Given the description of an element on the screen output the (x, y) to click on. 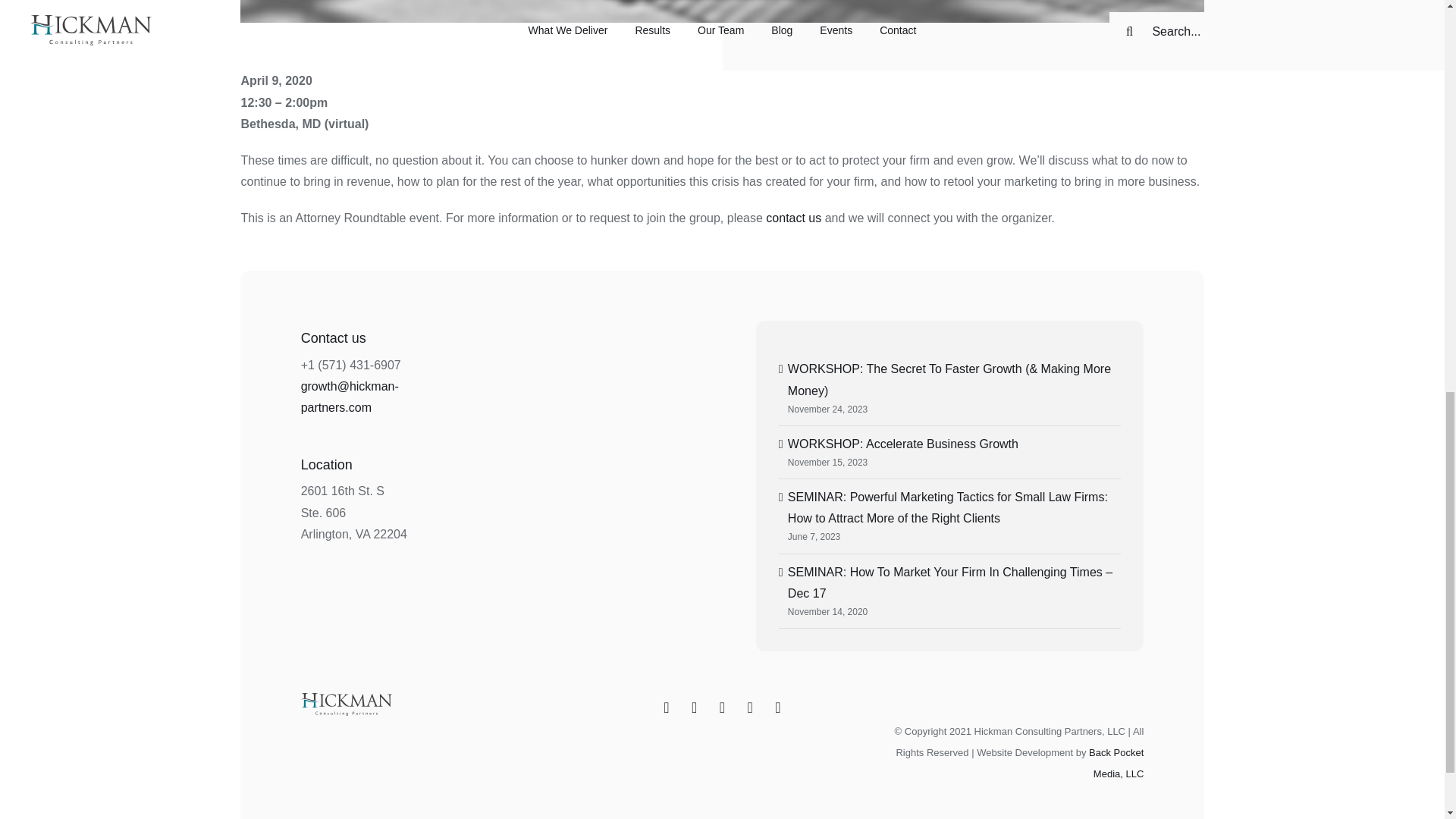
Hickman-Consulting-Partners-logo (346, 703)
Back Pocket Media, LLC (1115, 762)
WORKSHOP: Accelerate Business Growth (902, 443)
contact us (793, 217)
